Given the description of an element on the screen output the (x, y) to click on. 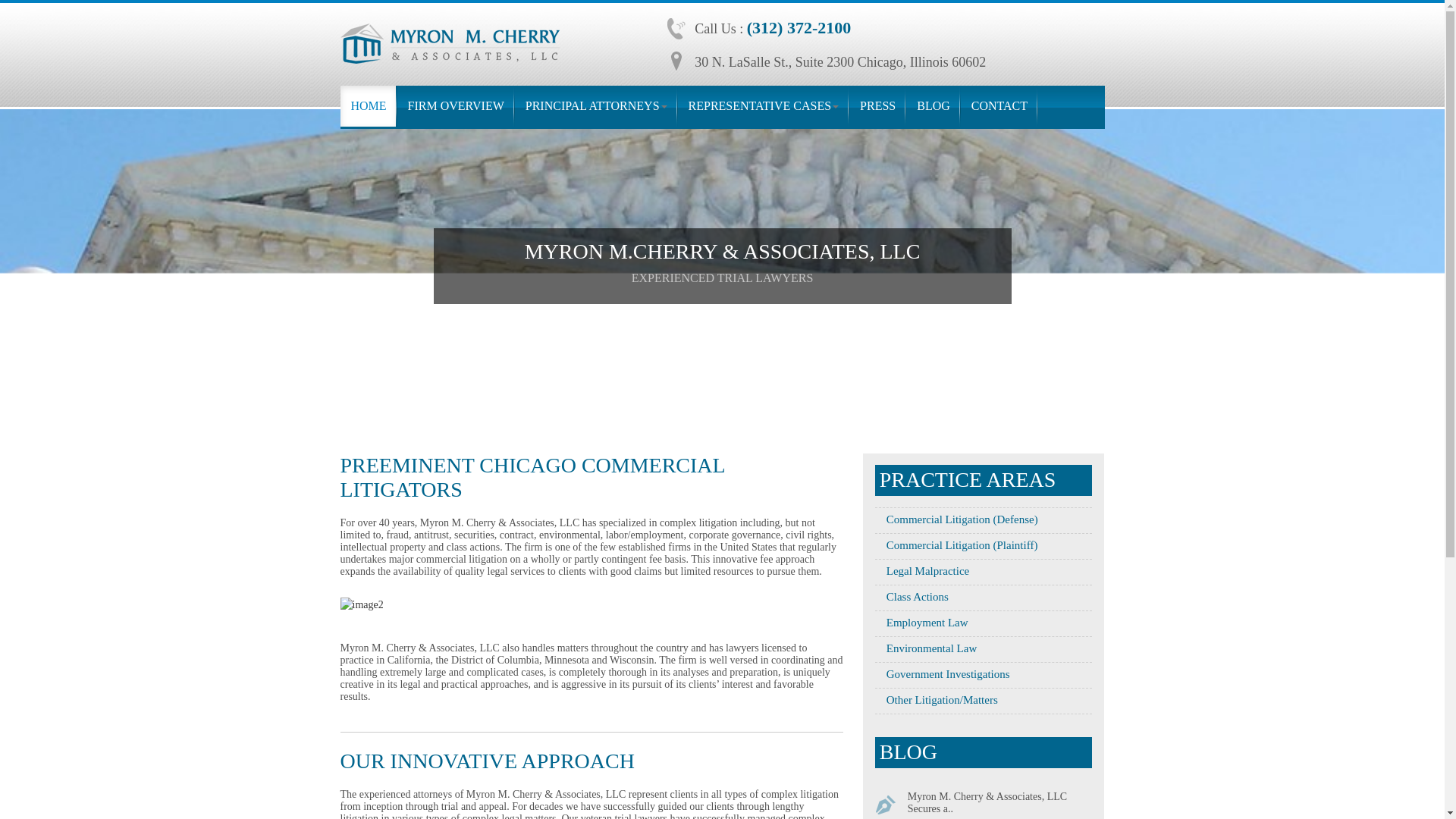
HOME (367, 105)
Government Investigations (942, 674)
Legal Malpractice (922, 571)
PRESS (876, 105)
Class Actions (912, 596)
FIRM OVERVIEW (456, 105)
PRINCIPAL ATTORNEYS (596, 105)
REPRESENTATIVE CASES (764, 105)
Employment Law (921, 622)
Environmental Law (925, 648)
CONTACT (999, 105)
BLOG (932, 105)
